Given the description of an element on the screen output the (x, y) to click on. 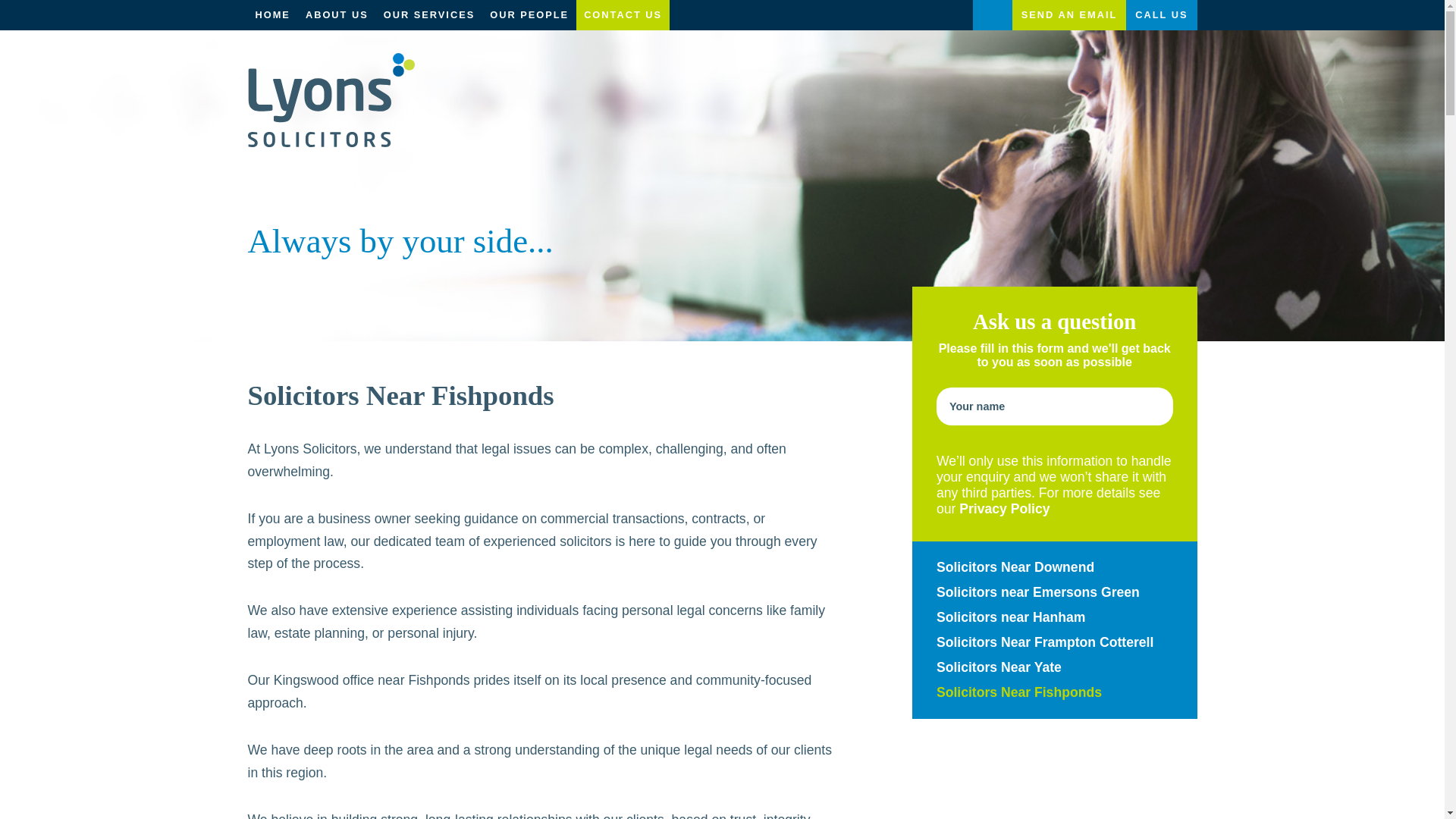
ABOUT US (336, 15)
CONTACT US (622, 15)
Send question (997, 775)
CALL US (1161, 15)
Solicitors Near Downend (1054, 571)
SEND AN EMAIL (1069, 15)
Solicitors near Hanham (1054, 621)
Solicitors near Emersons Green (1054, 596)
Solicitors Near Yate (1054, 672)
OUR SERVICES (428, 15)
Privacy Policy (1004, 508)
Solicitors Near Fishponds (1054, 697)
OUR PEOPLE (528, 15)
Solicitors Near Frampton Cotterell (1054, 647)
HOME (272, 15)
